Given the description of an element on the screen output the (x, y) to click on. 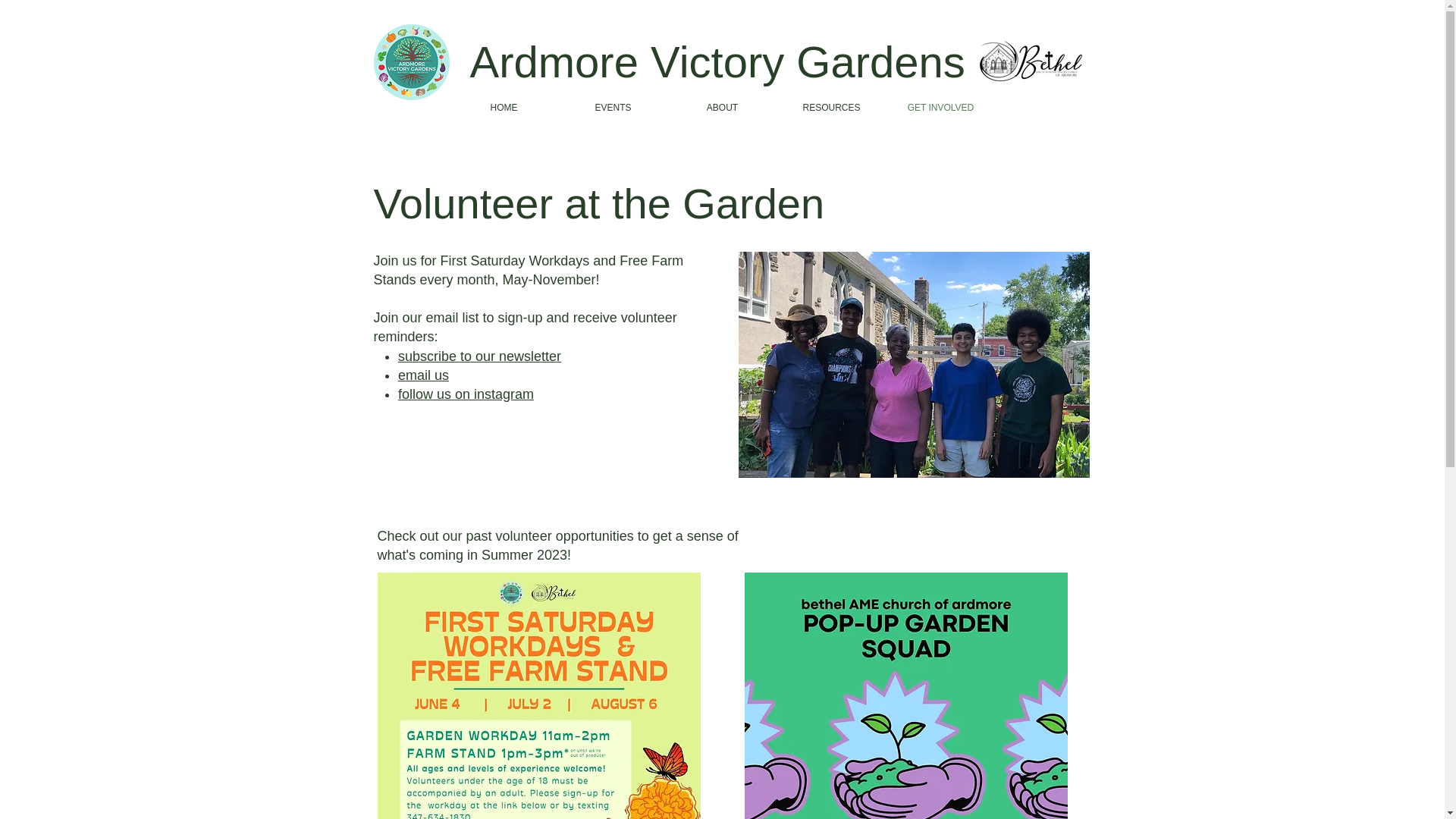
Victory Gardens Logo.png (410, 61)
EVENTS (611, 107)
follow us on instagram (465, 394)
RESOURCES (830, 107)
subscribe to our newsletter (478, 355)
GET INVOLVED (939, 107)
HOME (502, 107)
email us (422, 375)
ABOUT (721, 107)
